Given the description of an element on the screen output the (x, y) to click on. 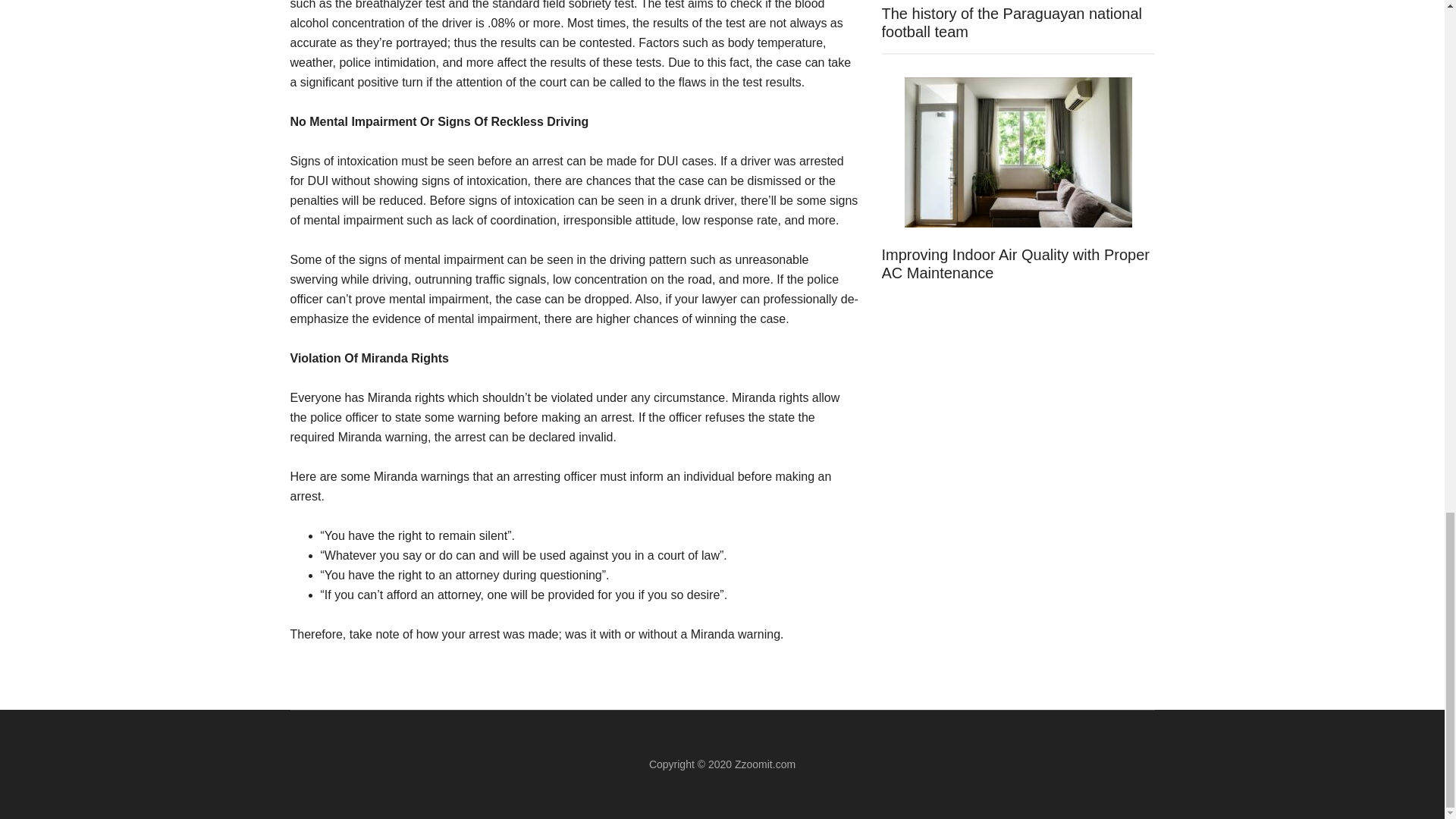
The history of the Paraguayan national football team (1010, 22)
Zzoomit.com (764, 764)
Improving Indoor Air Quality with Proper AC Maintenance (1015, 263)
